Given the description of an element on the screen output the (x, y) to click on. 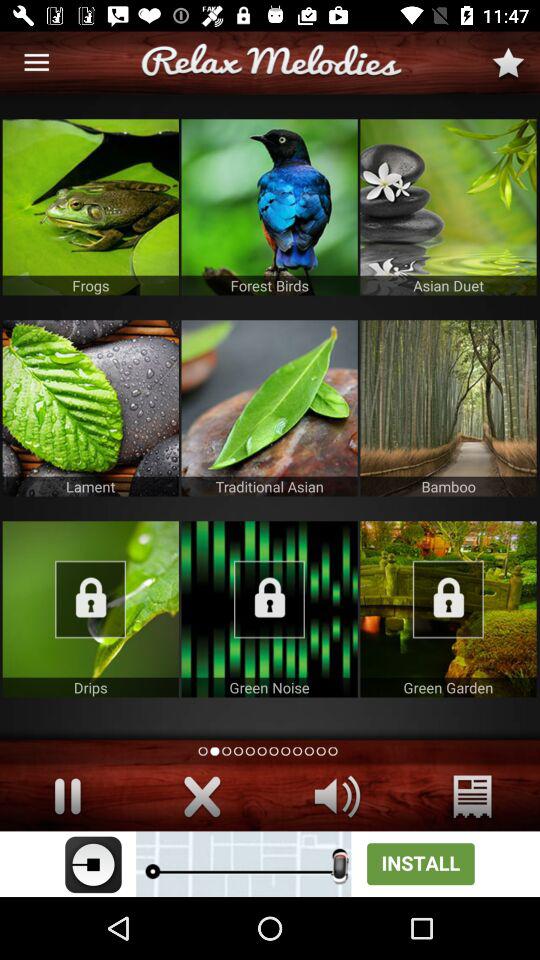
toggle the lock option (448, 609)
